Given the description of an element on the screen output the (x, y) to click on. 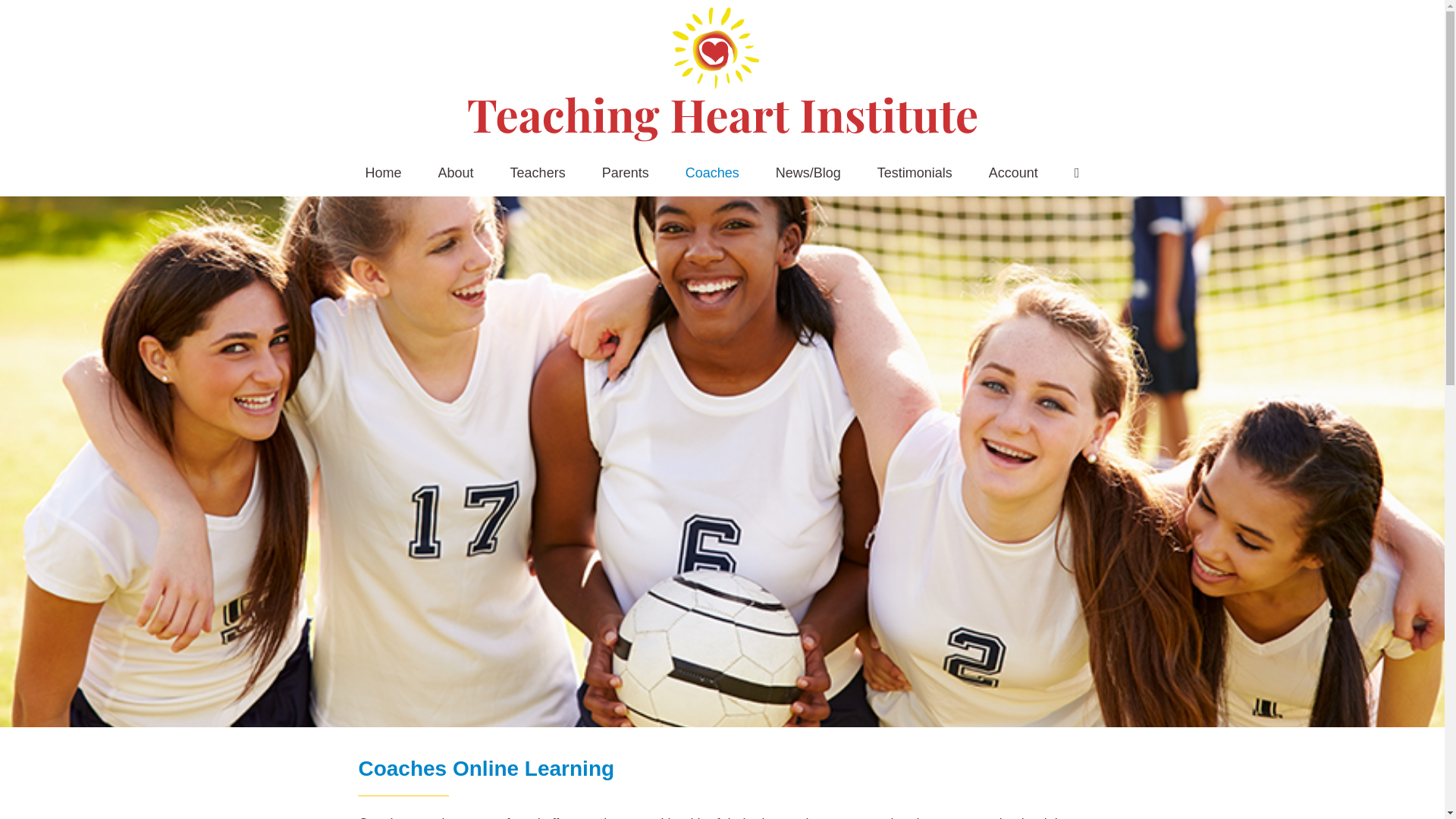
Coaches (712, 172)
Teachers (538, 172)
Testimonials (914, 172)
Account (1013, 172)
Parents (625, 172)
